Given the description of an element on the screen output the (x, y) to click on. 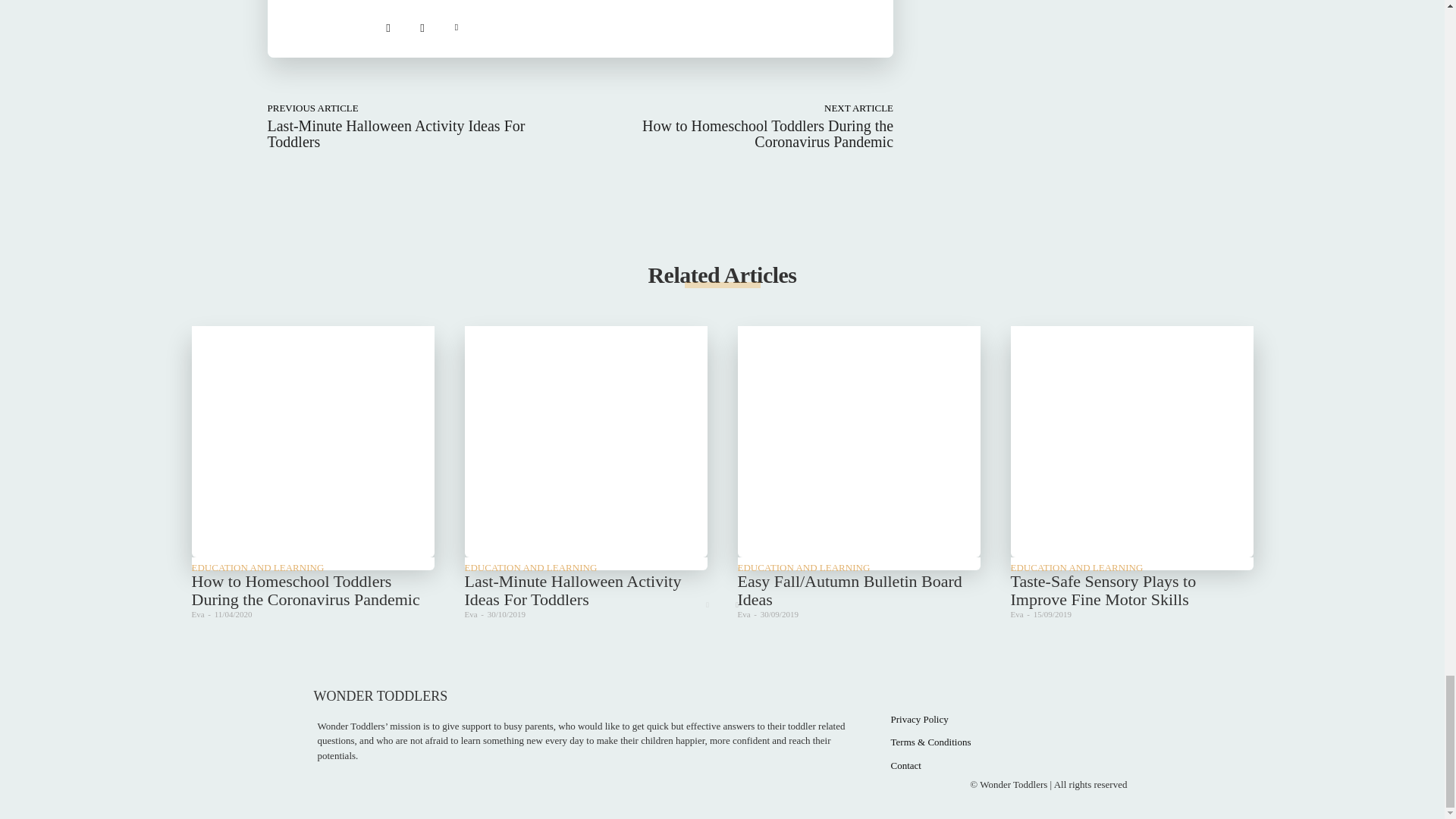
facebook (387, 24)
instagram (422, 24)
twitter (455, 24)
